Given the description of an element on the screen output the (x, y) to click on. 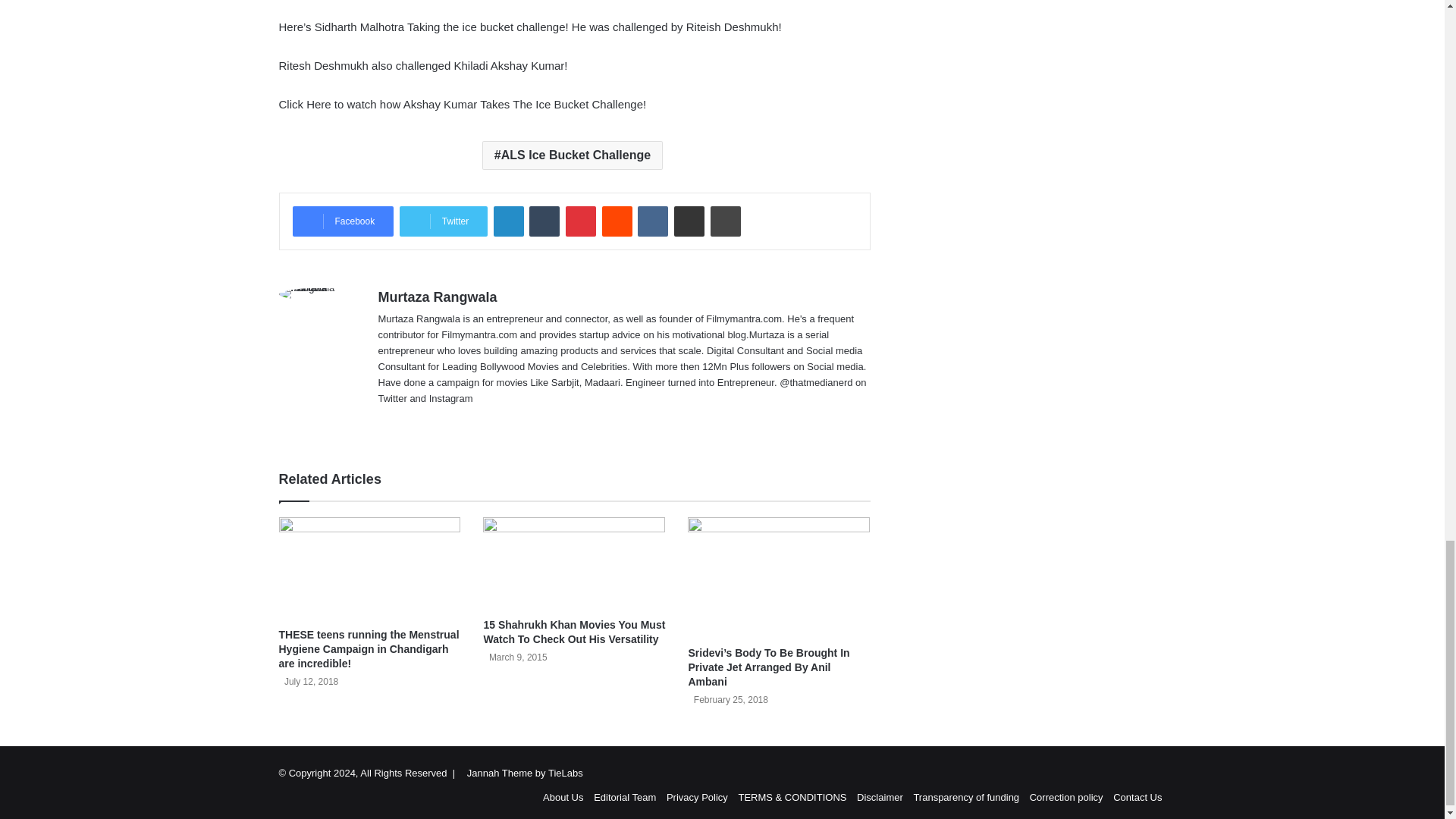
Print (725, 221)
Pinterest (580, 221)
Share via Email (689, 221)
Tumblr (544, 221)
Twitter (442, 221)
Twitter (442, 221)
Reddit (616, 221)
LinkedIn (508, 221)
Facebook (343, 221)
ALS Ice Bucket Challenge (571, 154)
